Given the description of an element on the screen output the (x, y) to click on. 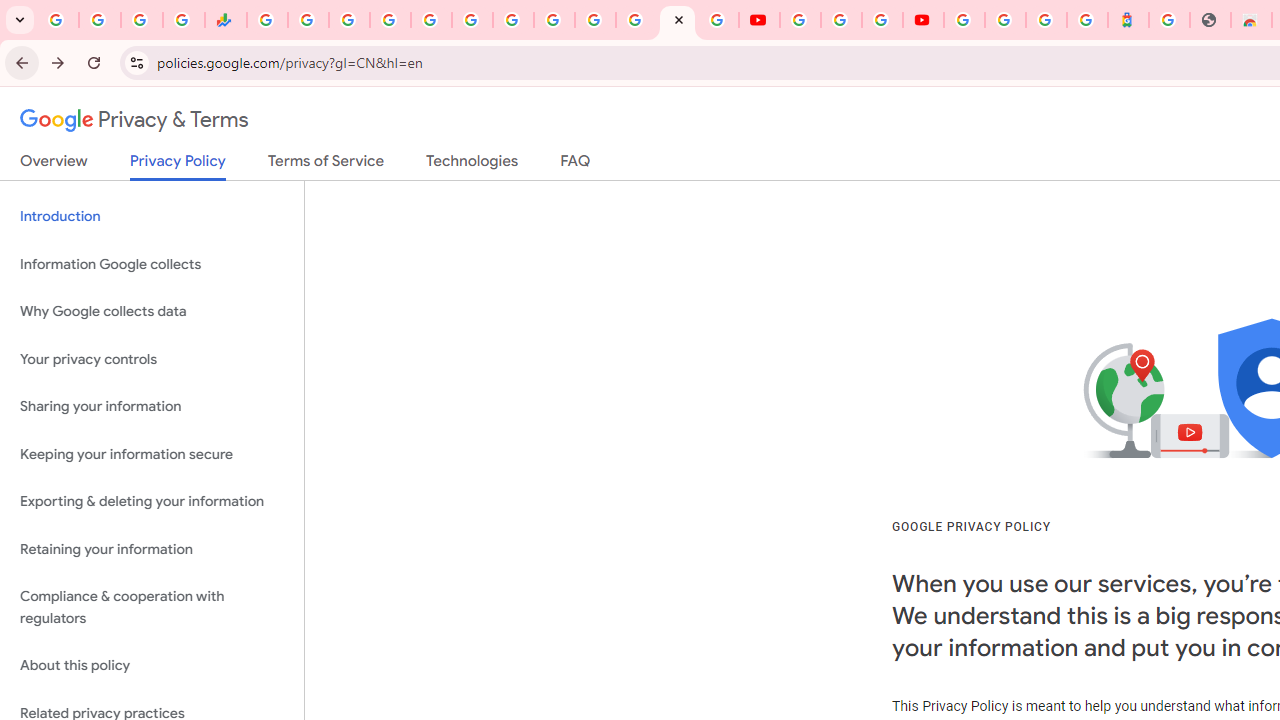
YouTube (758, 20)
Introduction (152, 216)
Privacy Checkup (717, 20)
